Given the description of an element on the screen output the (x, y) to click on. 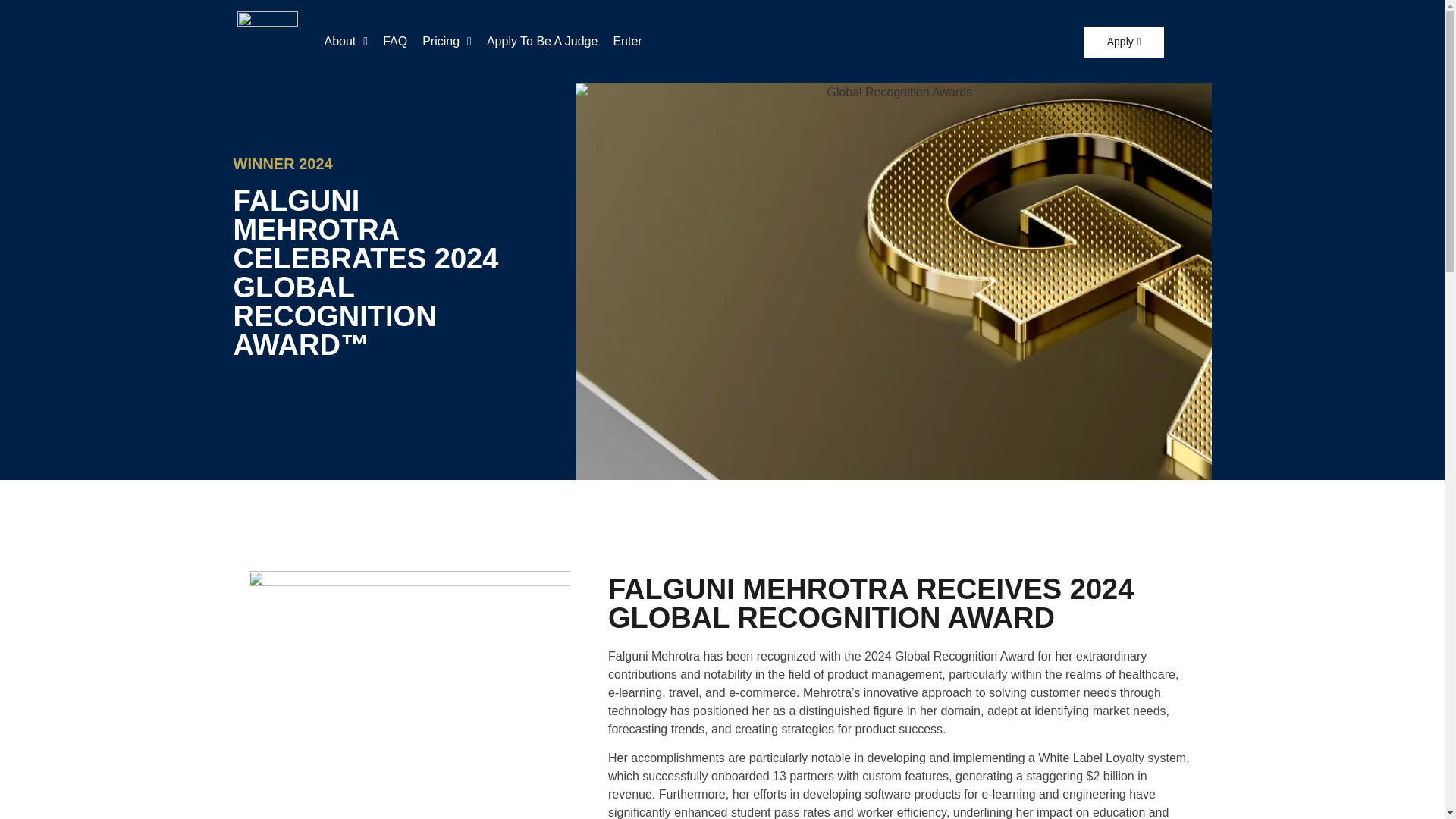
FAQ (394, 41)
Pricing (446, 41)
Apply (1123, 41)
About (346, 41)
Enter (627, 41)
Apply To Be A Judge (542, 41)
